Given the description of an element on the screen output the (x, y) to click on. 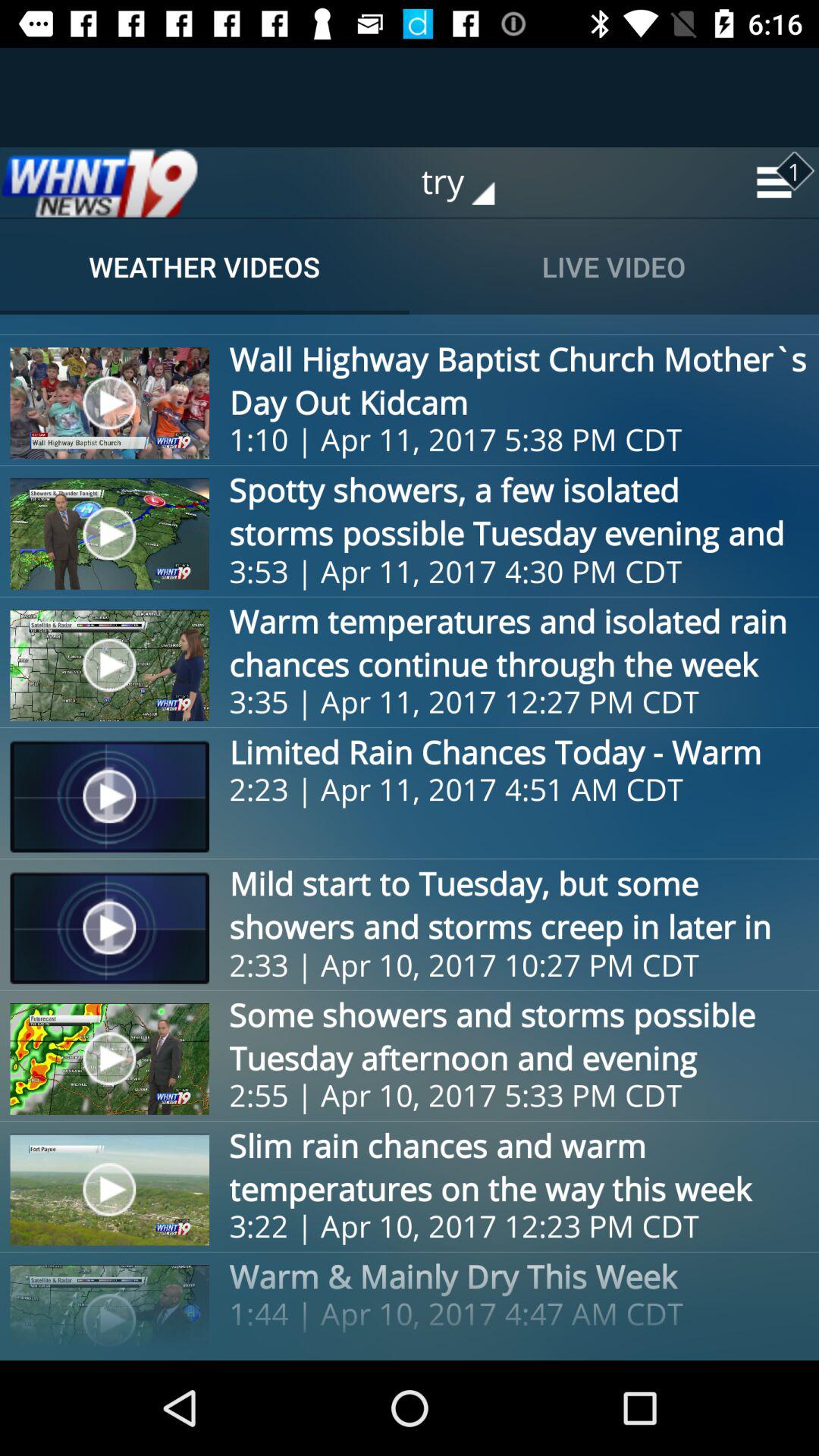
would take you to the homepage for whnt 19 (99, 182)
